Given the description of an element on the screen output the (x, y) to click on. 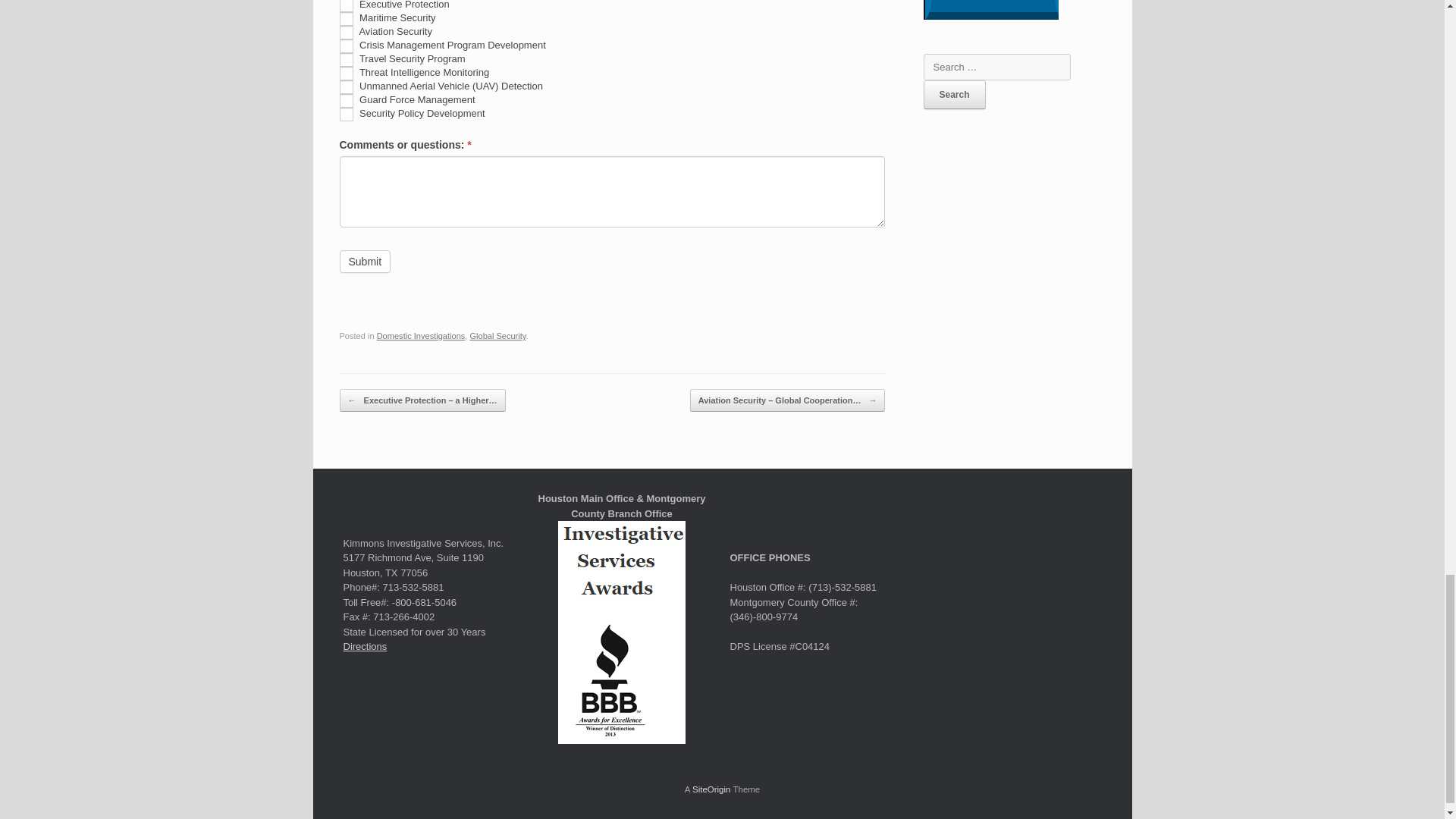
Crisis Management Program Development (346, 46)
Search (954, 94)
Maritime Security (346, 18)
Search (954, 94)
Travel Security Program (346, 59)
Guard Force Management (346, 100)
Threat Intelligence Monitoring (346, 73)
Executive Protection (346, 6)
Security Policy Development (346, 114)
Aviation Security (346, 32)
